Given the description of an element on the screen output the (x, y) to click on. 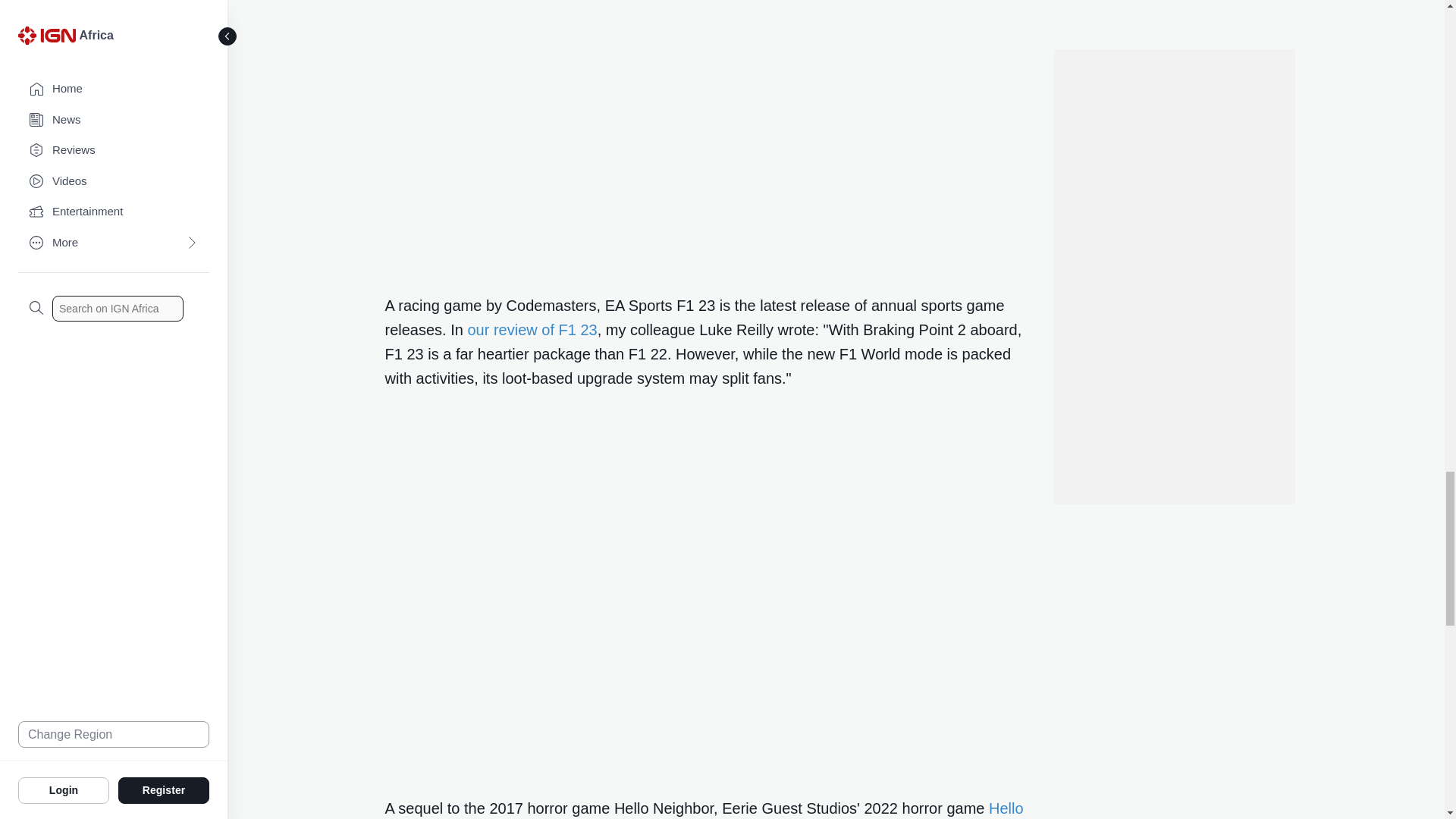
Hello Neighbor 2 (704, 809)
our review of F1 23 (531, 329)
